Given the description of an element on the screen output the (x, y) to click on. 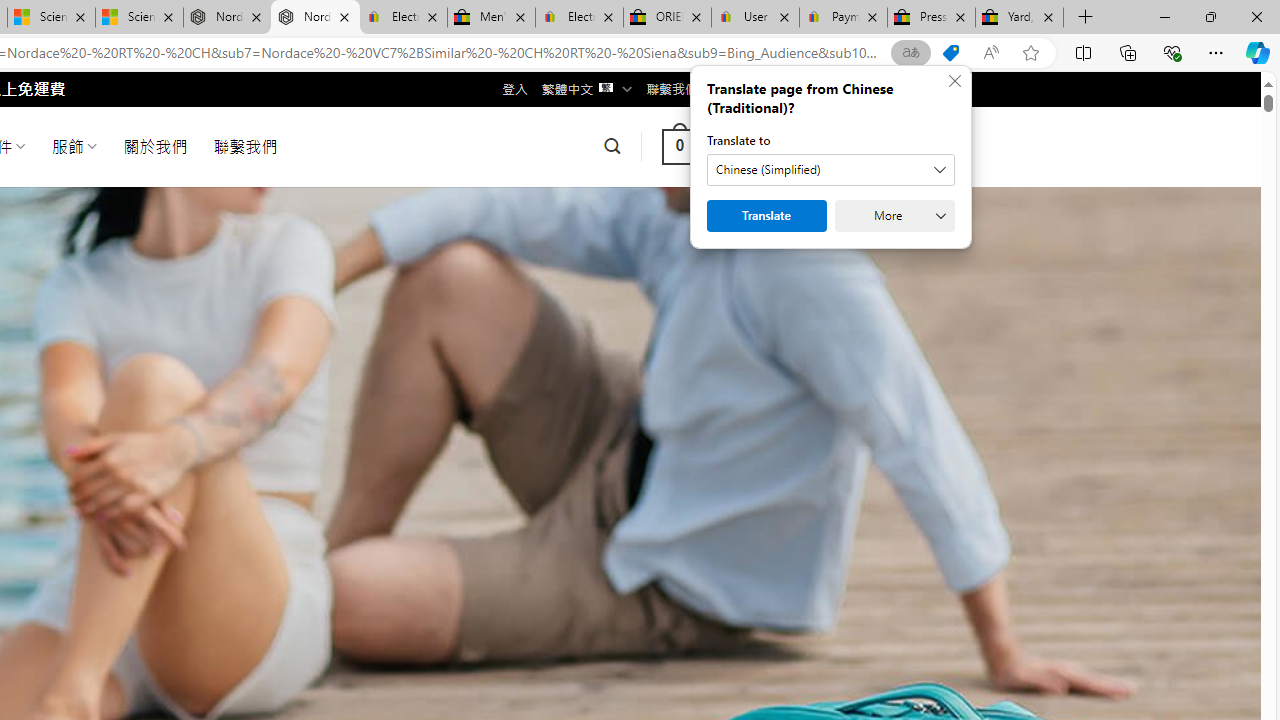
More (894, 215)
